Given the description of an element on the screen output the (x, y) to click on. 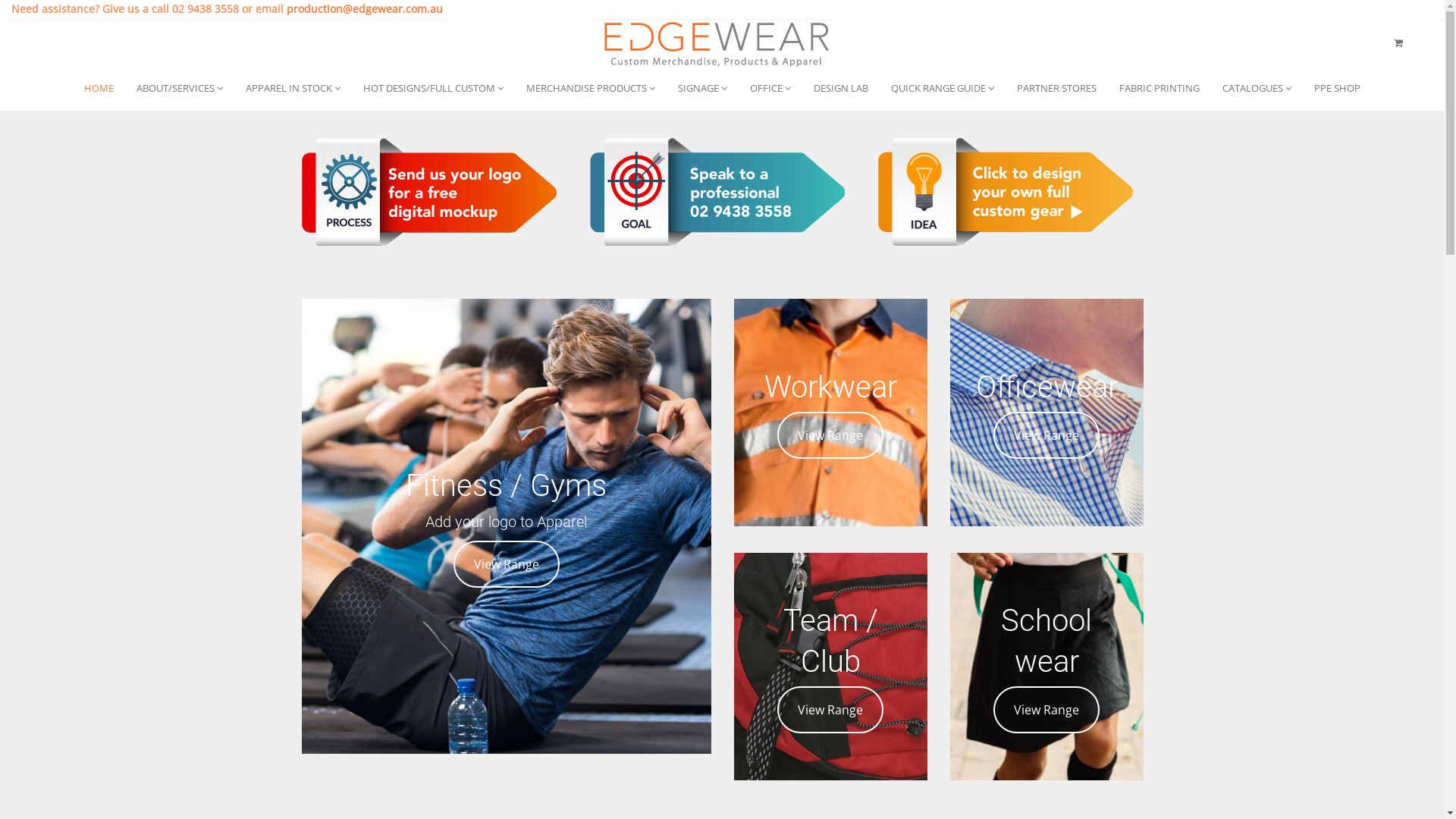
process-icon Element type: hover (428, 191)
MERCHANDISE PRODUCTS Element type: text (590, 87)
View Range Element type: text (830, 434)
View Range Element type: text (830, 708)
View Range Element type: text (506, 562)
APPAREL IN STOCK Element type: text (292, 87)
DESIGN LAB Element type: text (840, 87)
View Range Element type: text (1046, 708)
PPE SHOP Element type: text (1336, 87)
production@edgewear.com.au Element type: text (364, 8)
idea-icon Element type: hover (1005, 191)
02 9438 3558 Element type: text (205, 8)
CATALOGUES Element type: text (1256, 87)
Edgewear Element type: hover (716, 42)
HOT DESIGNS/FULL CUSTOM Element type: text (432, 87)
Goal-icon Element type: hover (716, 191)
PARTNER STORES Element type: text (1056, 87)
View Range Element type: text (1046, 434)
QUICK RANGE GUIDE Element type: text (942, 87)
FABRIC PRINTING Element type: text (1159, 87)
HOME Element type: text (98, 87)
SIGNAGE Element type: text (702, 87)
ABOUT/SERVICES Element type: text (179, 87)
OFFICE Element type: text (770, 87)
